Given the description of an element on the screen output the (x, y) to click on. 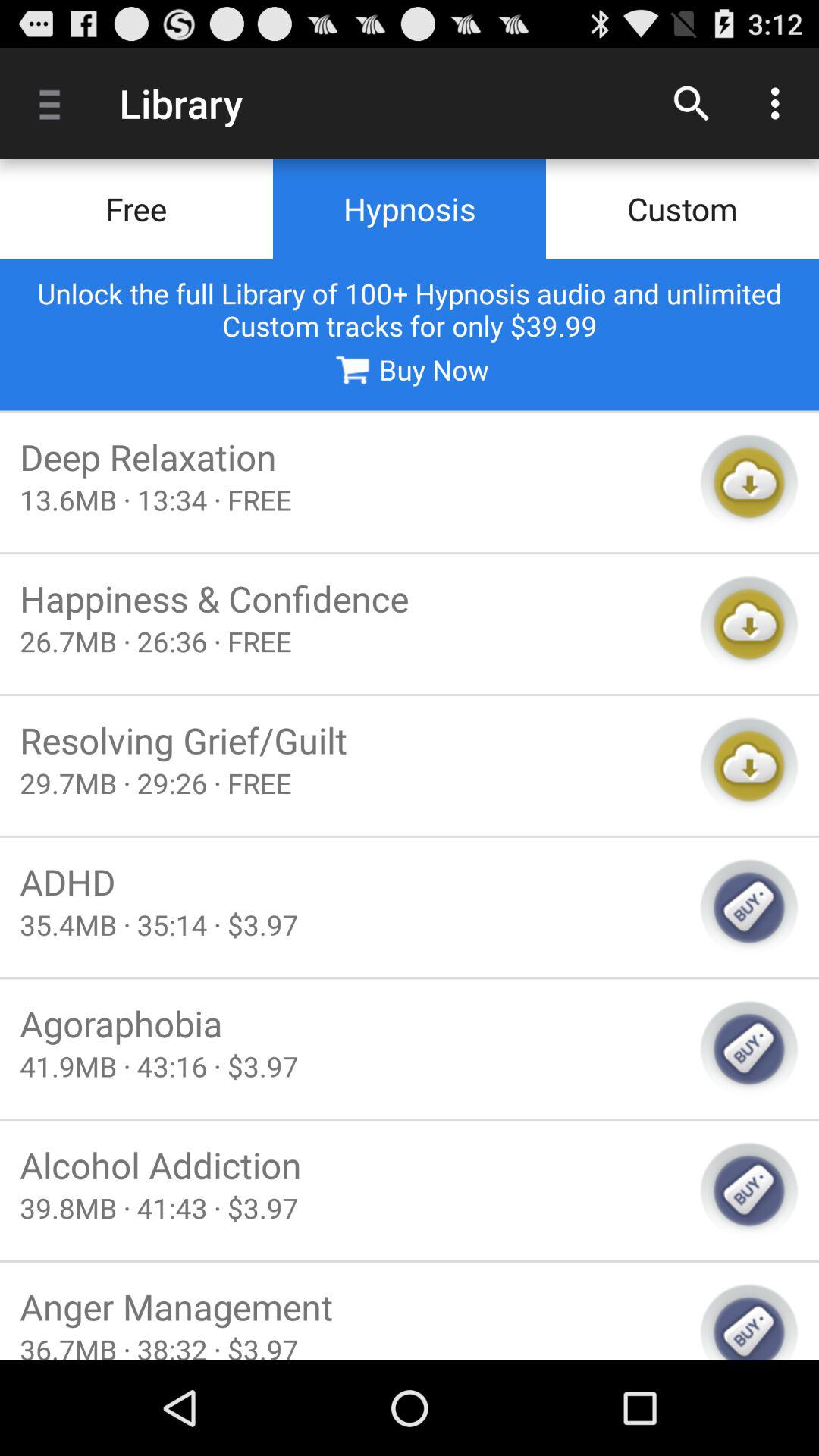
puuchase adhd book (749, 907)
